Given the description of an element on the screen output the (x, y) to click on. 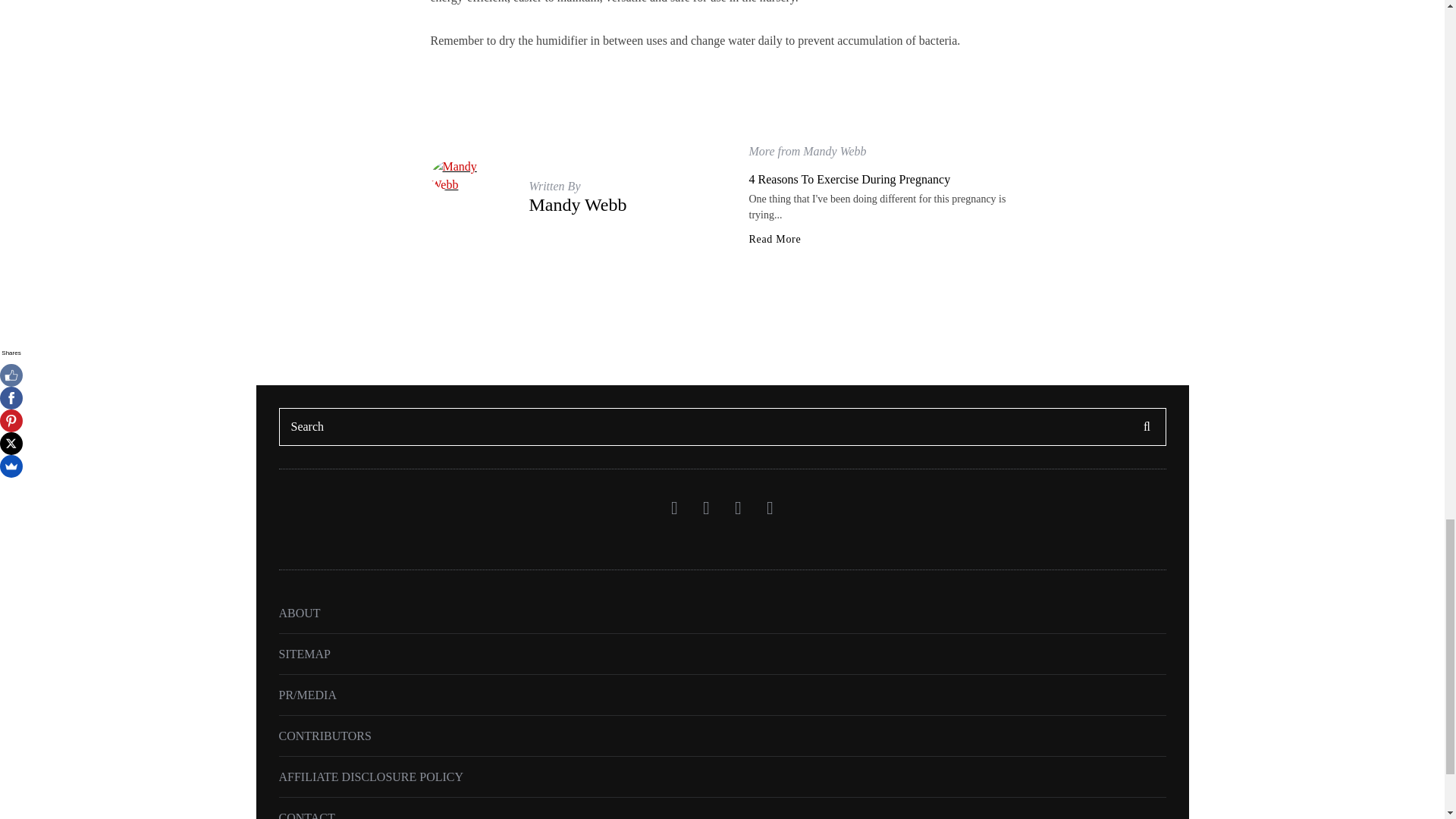
ABOUT (299, 612)
CONTACT (306, 815)
AFFILIATE DISCLOSURE POLICY (371, 776)
Read More (775, 239)
CONTRIBUTORS (325, 735)
SITEMAP (304, 653)
Mandy Webb (578, 204)
